Given the description of an element on the screen output the (x, y) to click on. 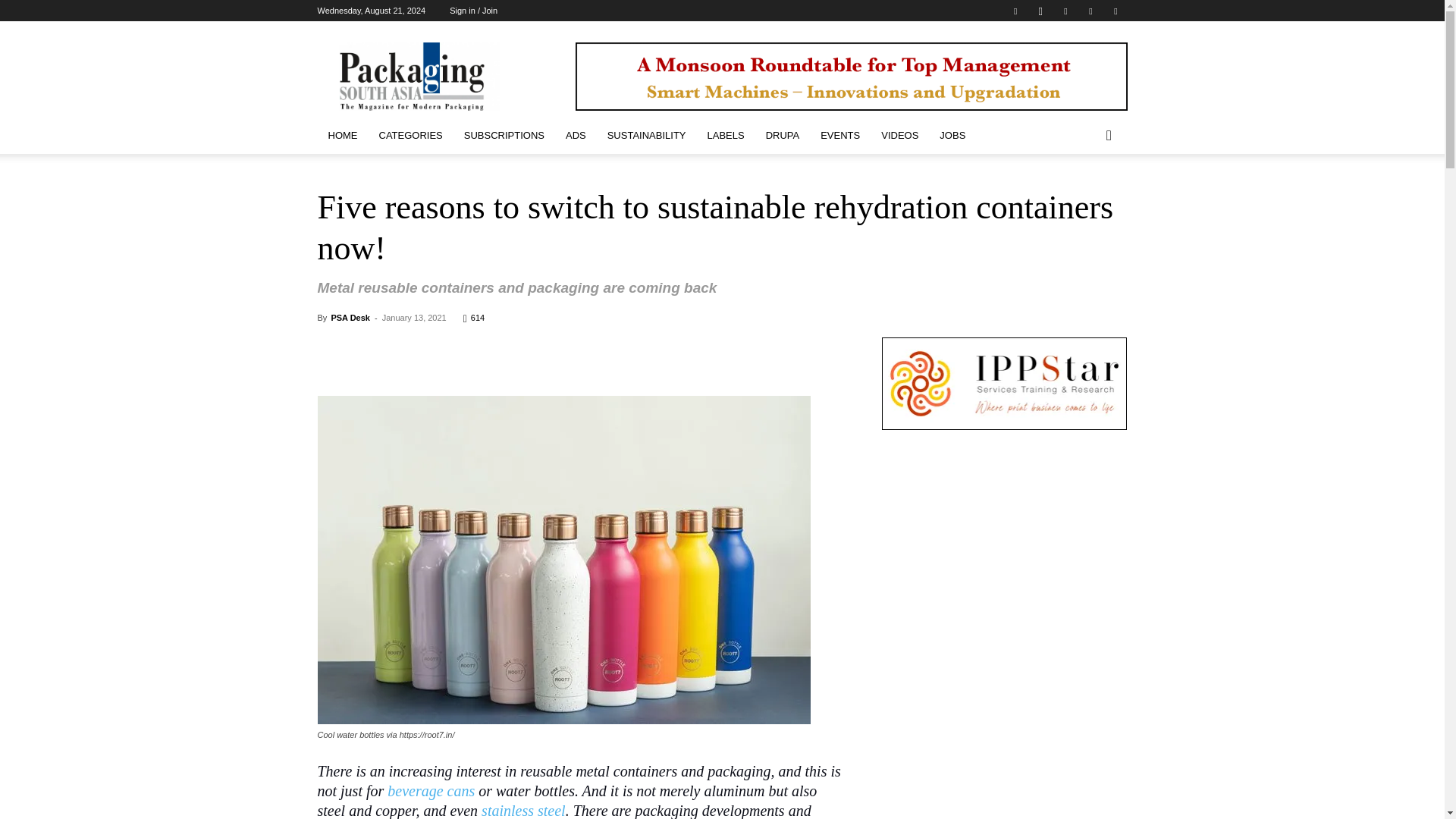
Twitter (1090, 10)
Instagram (1040, 10)
Facebook (1015, 10)
Youtube (1114, 10)
Linkedin (1065, 10)
